Given the description of an element on the screen output the (x, y) to click on. 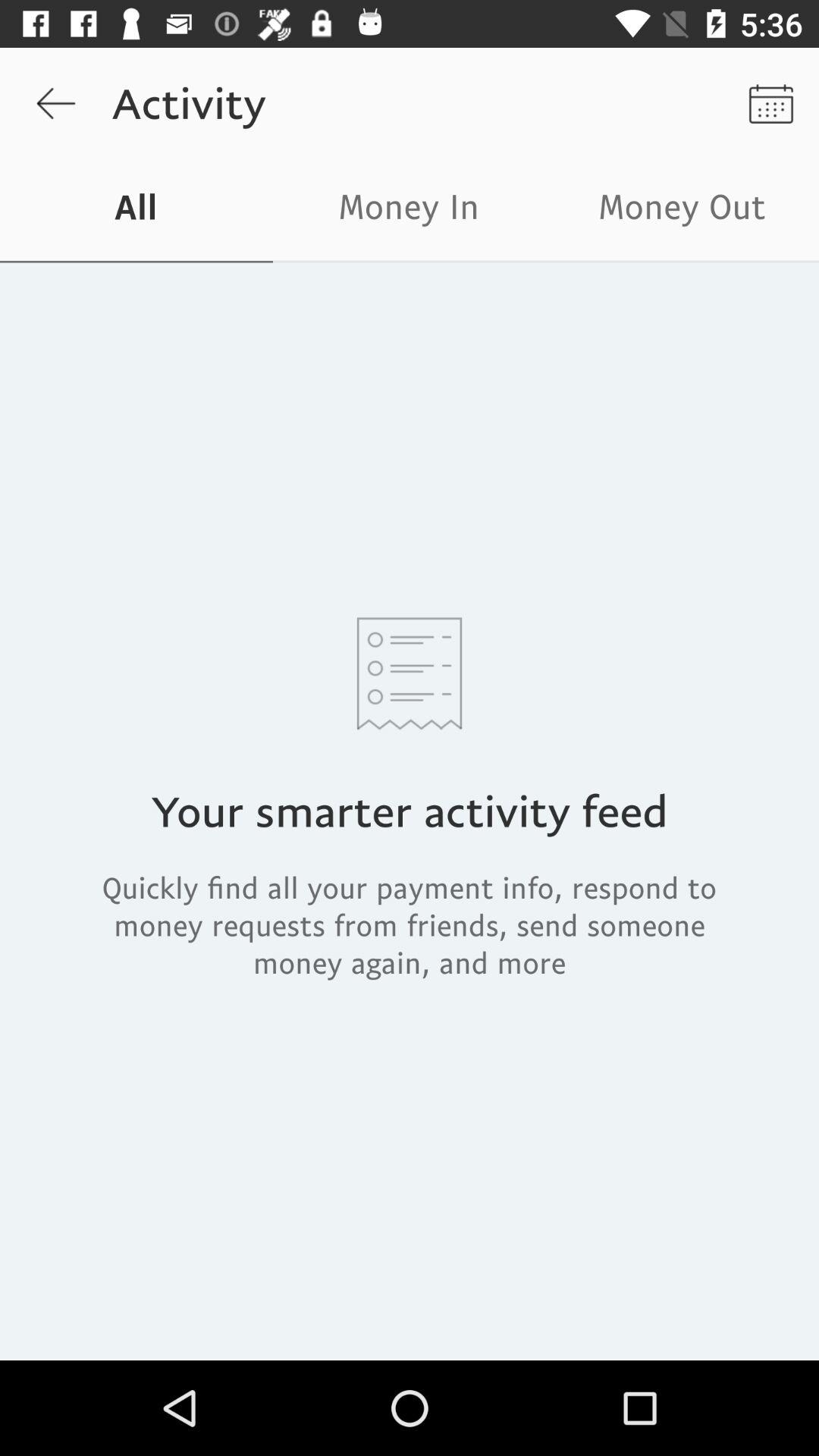
click the item to the left of activity item (55, 103)
